Given the description of an element on the screen output the (x, y) to click on. 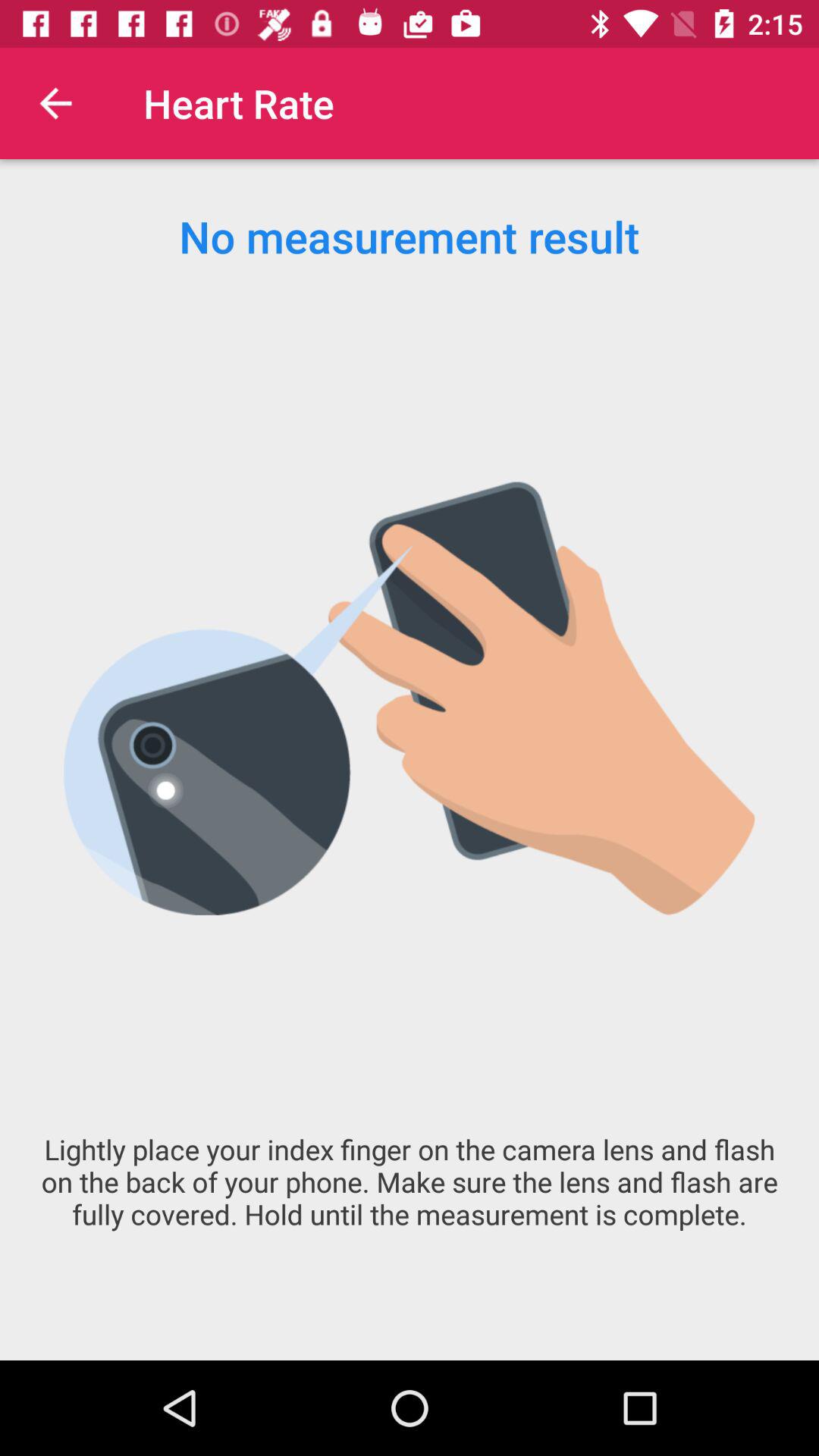
turn off item next to the heart rate (55, 103)
